Given the description of an element on the screen output the (x, y) to click on. 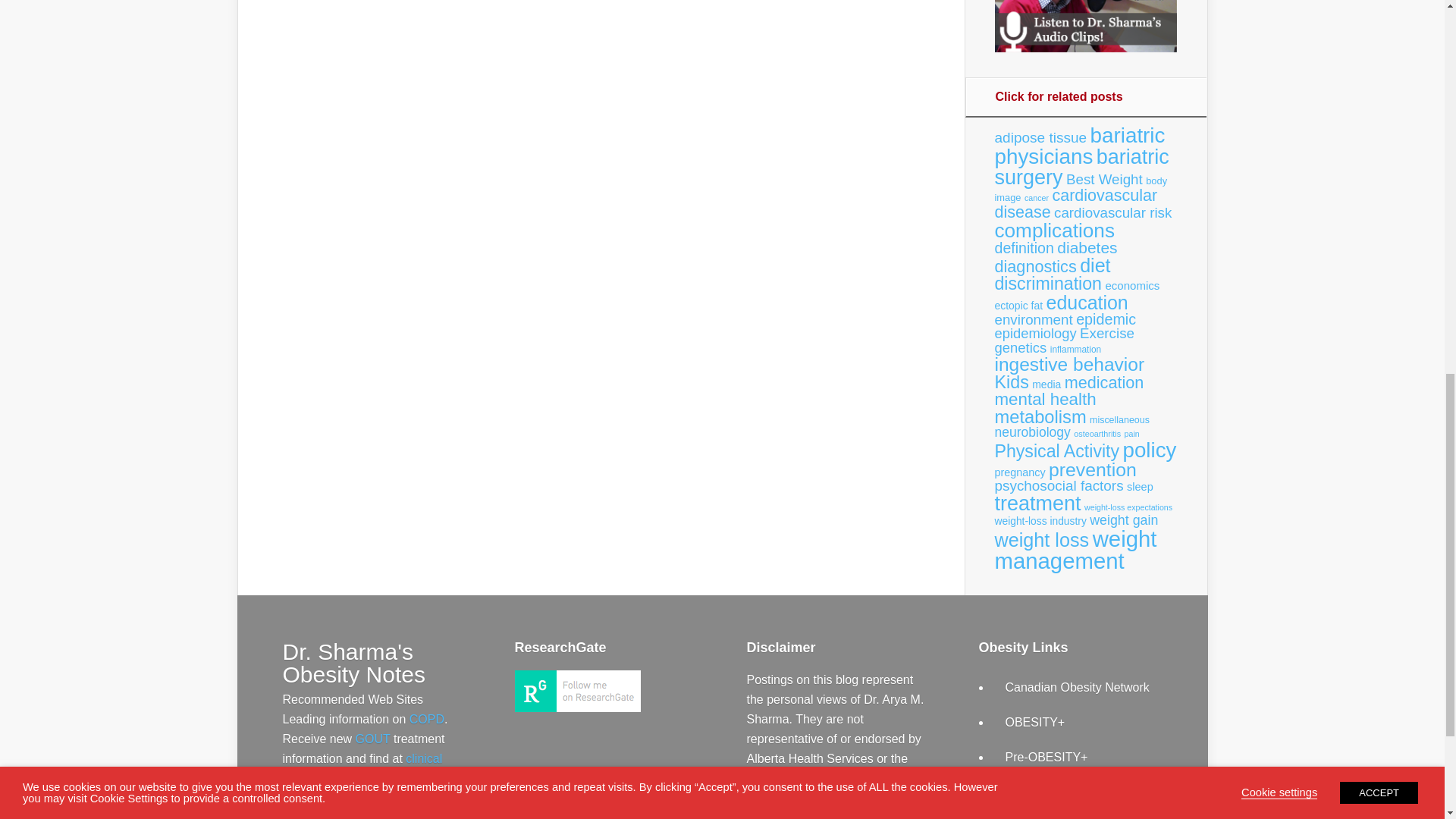
body image (1080, 189)
discrimination (1048, 283)
Canadian Obesity Network (1078, 686)
complications (1054, 230)
bariatric surgery (1081, 167)
environment (1033, 318)
Best Weight (1103, 179)
diet (1094, 265)
Arya Mitra Sharma (576, 707)
diagnostics (1035, 266)
